Given the description of an element on the screen output the (x, y) to click on. 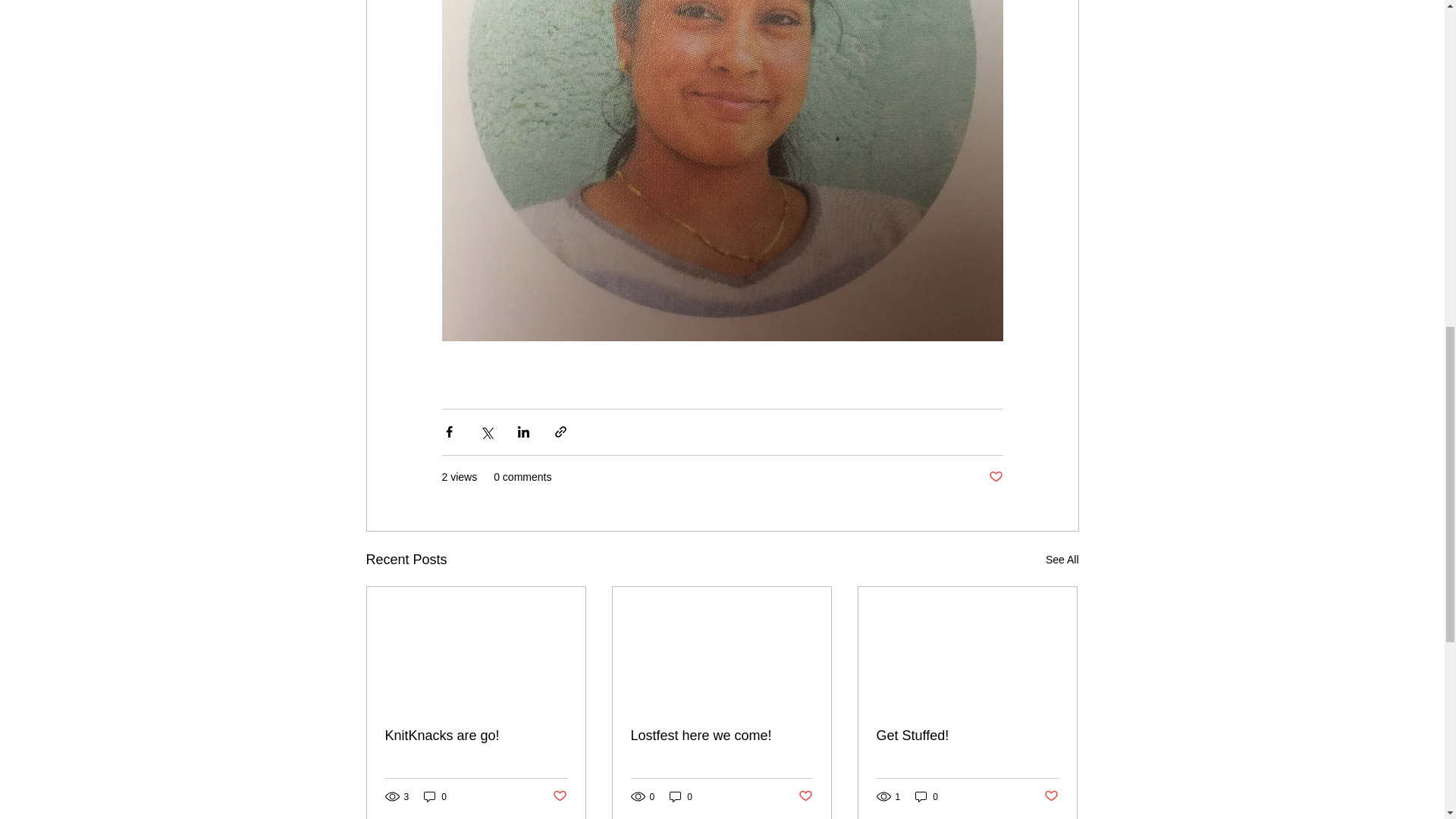
Get Stuffed! (967, 735)
0 (681, 796)
Post not marked as liked (804, 796)
0 (435, 796)
See All (1061, 559)
Post not marked as liked (995, 477)
0 (926, 796)
Post not marked as liked (1050, 796)
Post not marked as liked (558, 796)
Lostfest here we come! (721, 735)
KnitKnacks are go! (476, 735)
